Given the description of an element on the screen output the (x, y) to click on. 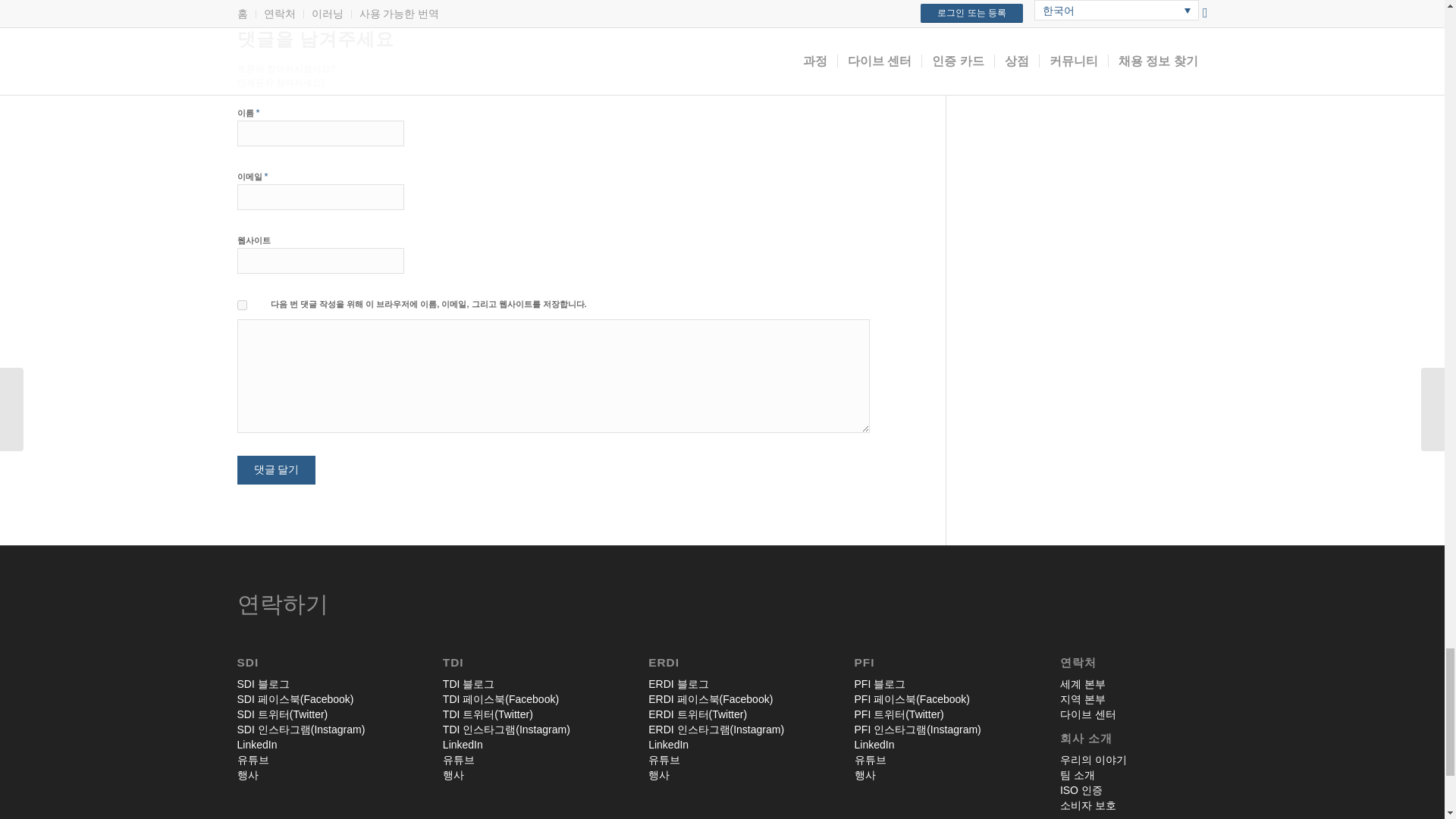
yes (240, 305)
